Given the description of an element on the screen output the (x, y) to click on. 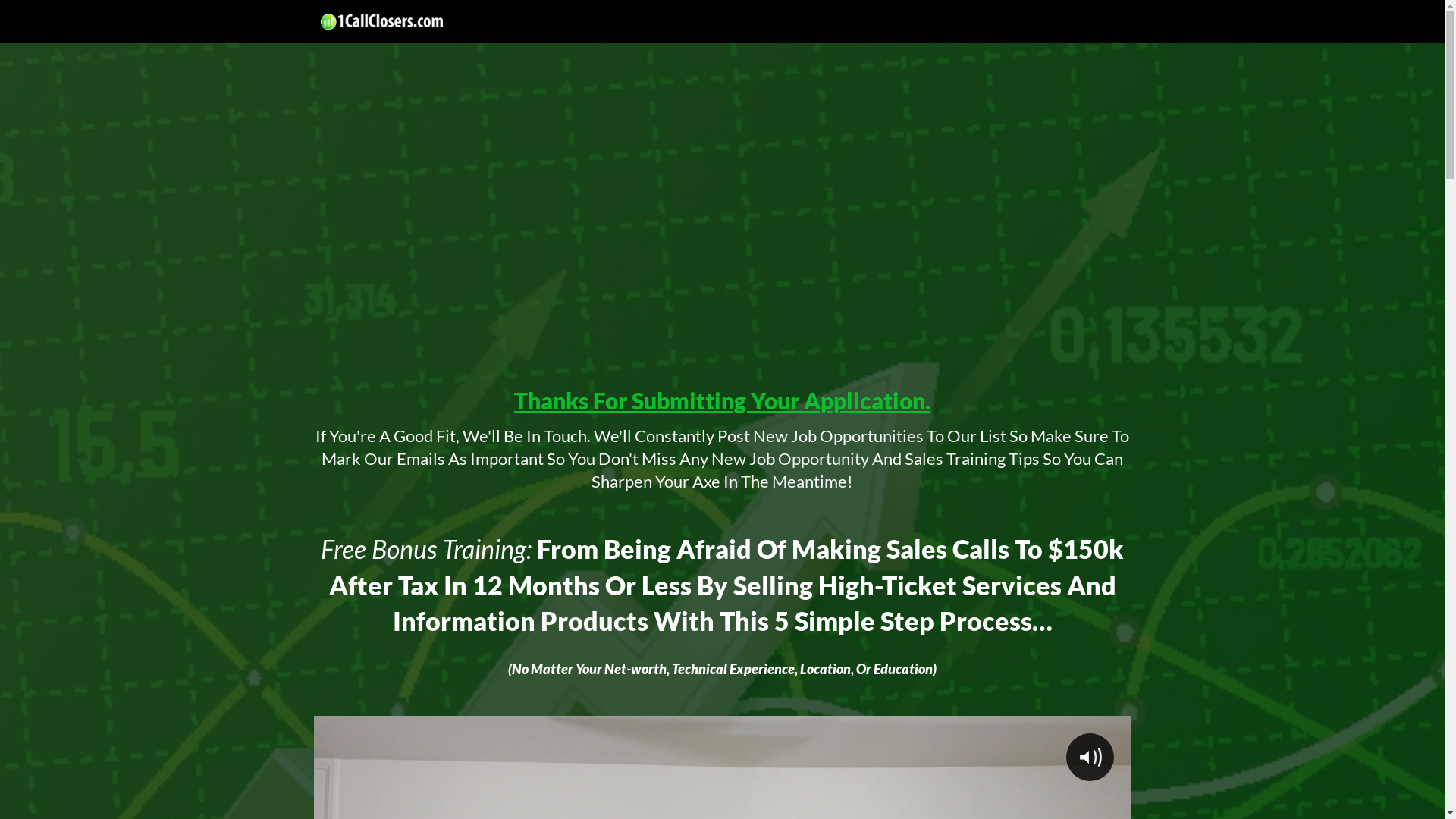
Responsive Video Element type: hover (722, 223)
